Given the description of an element on the screen output the (x, y) to click on. 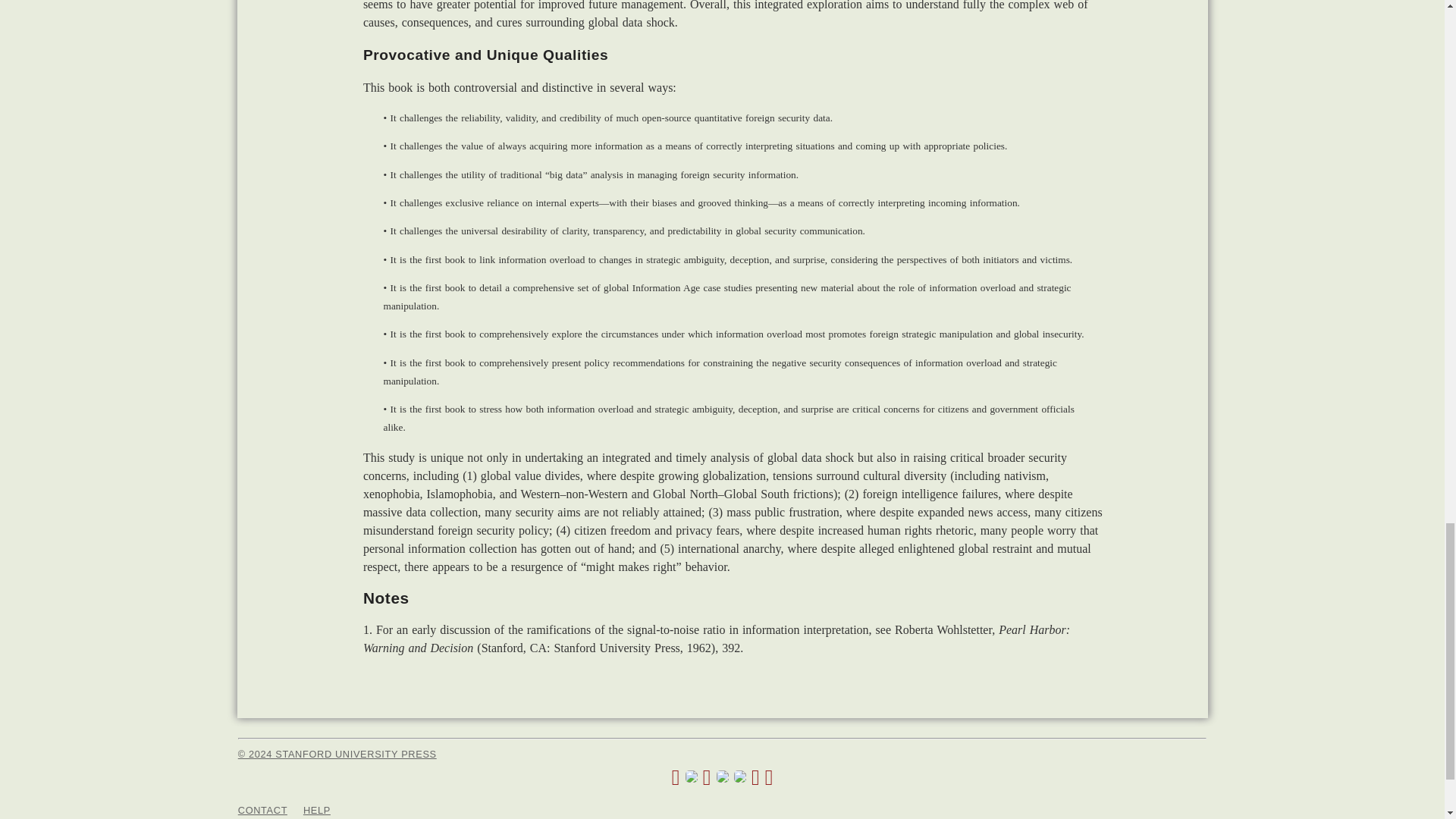
CONTACT (262, 809)
HELP (316, 809)
